Given the description of an element on the screen output the (x, y) to click on. 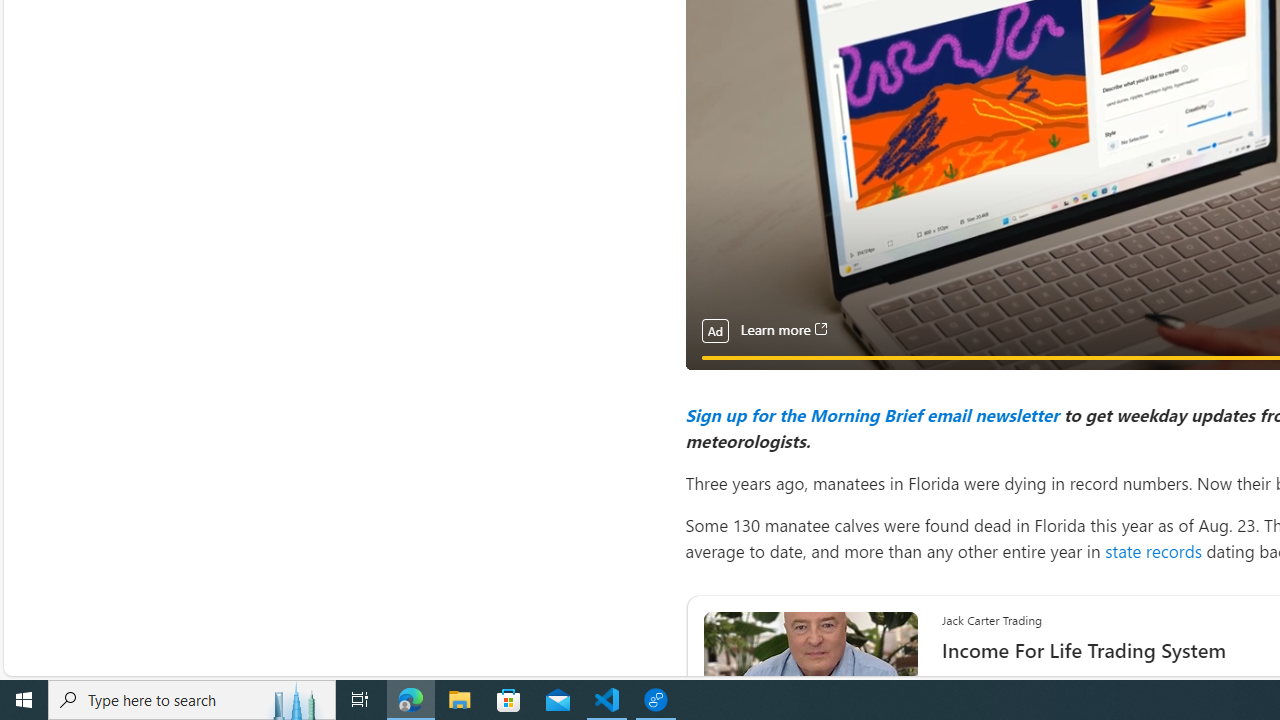
state records (1152, 550)
Pause (714, 380)
Sign up for the Morning Brief email newsletter (871, 414)
Learn more (783, 330)
